Given the description of an element on the screen output the (x, y) to click on. 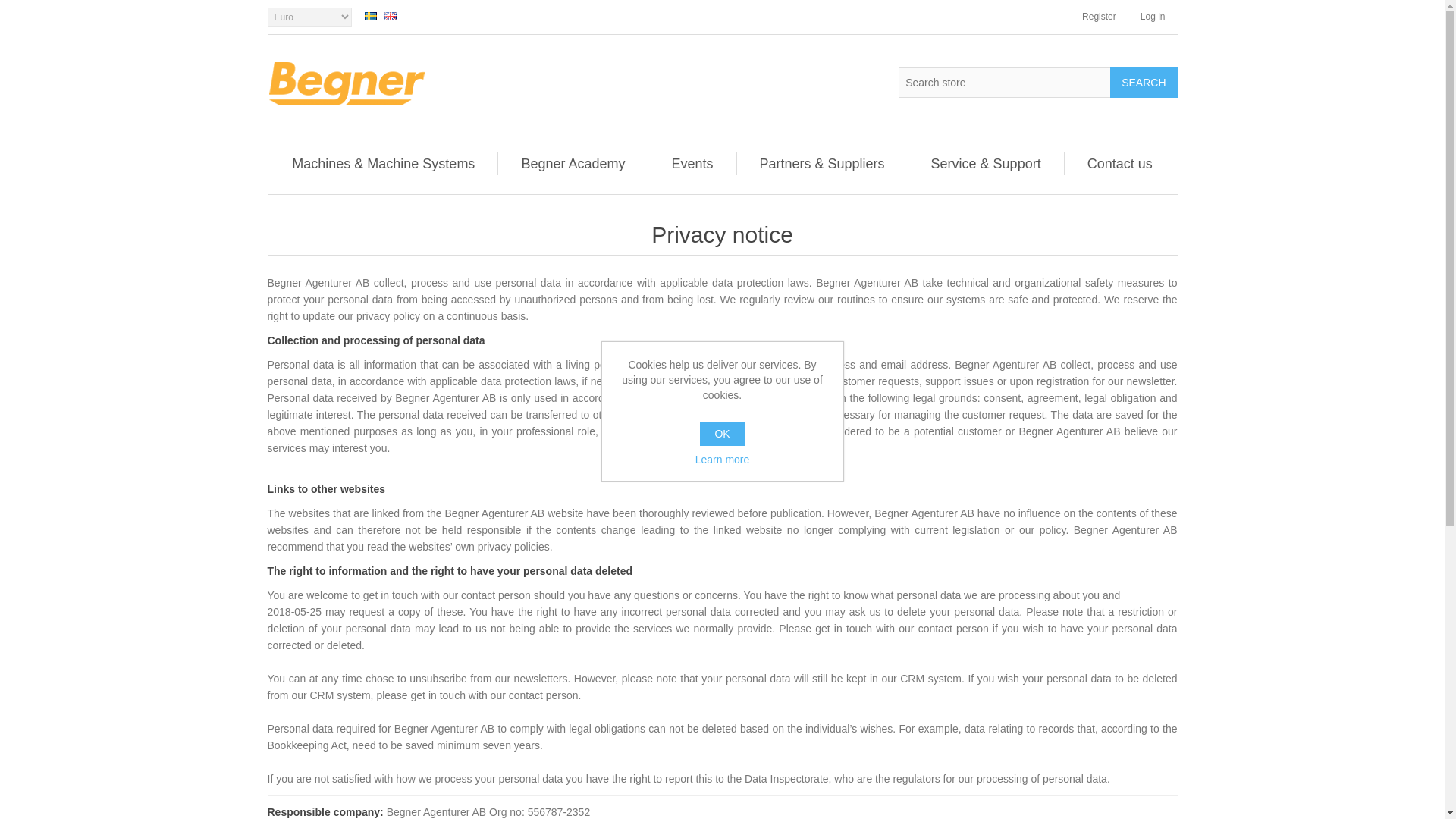
Register (1098, 17)
English (390, 16)
SEARCH (1142, 82)
Swedish (369, 16)
